Given the description of an element on the screen output the (x, y) to click on. 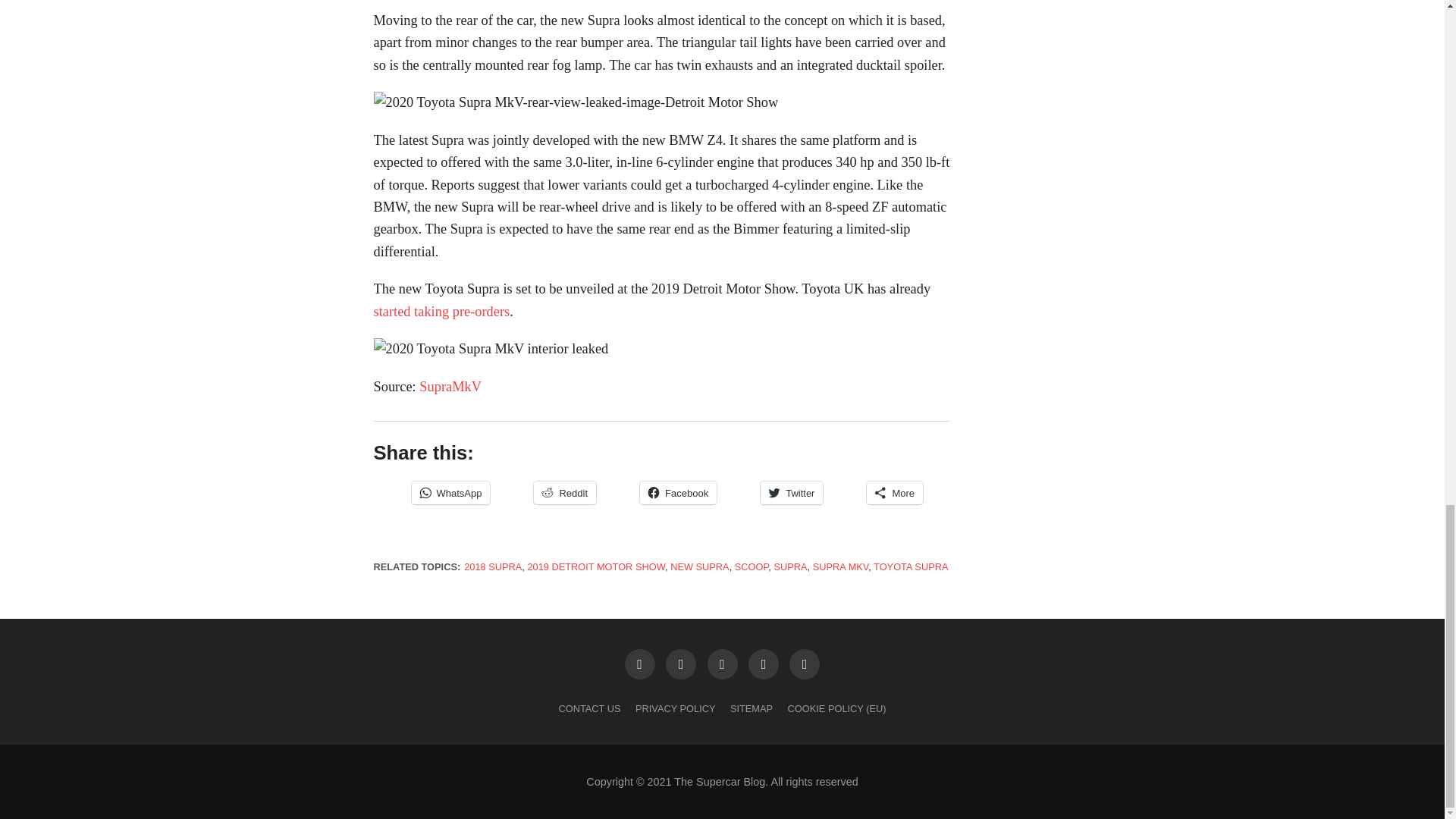
started taking pre-orders (440, 311)
SUPRA MKV (840, 566)
Twitter (791, 492)
NEW SUPRA (699, 566)
Facebook (678, 492)
TOYOTA SUPRA (910, 566)
SupraMkV (450, 386)
More (894, 492)
2019 DETROIT MOTOR SHOW (596, 566)
Click to share on Facebook (678, 492)
Click to share on Reddit (564, 492)
Click to share on Twitter (791, 492)
SCOOP (751, 566)
WhatsApp (449, 492)
2018 SUPRA (492, 566)
